Given the description of an element on the screen output the (x, y) to click on. 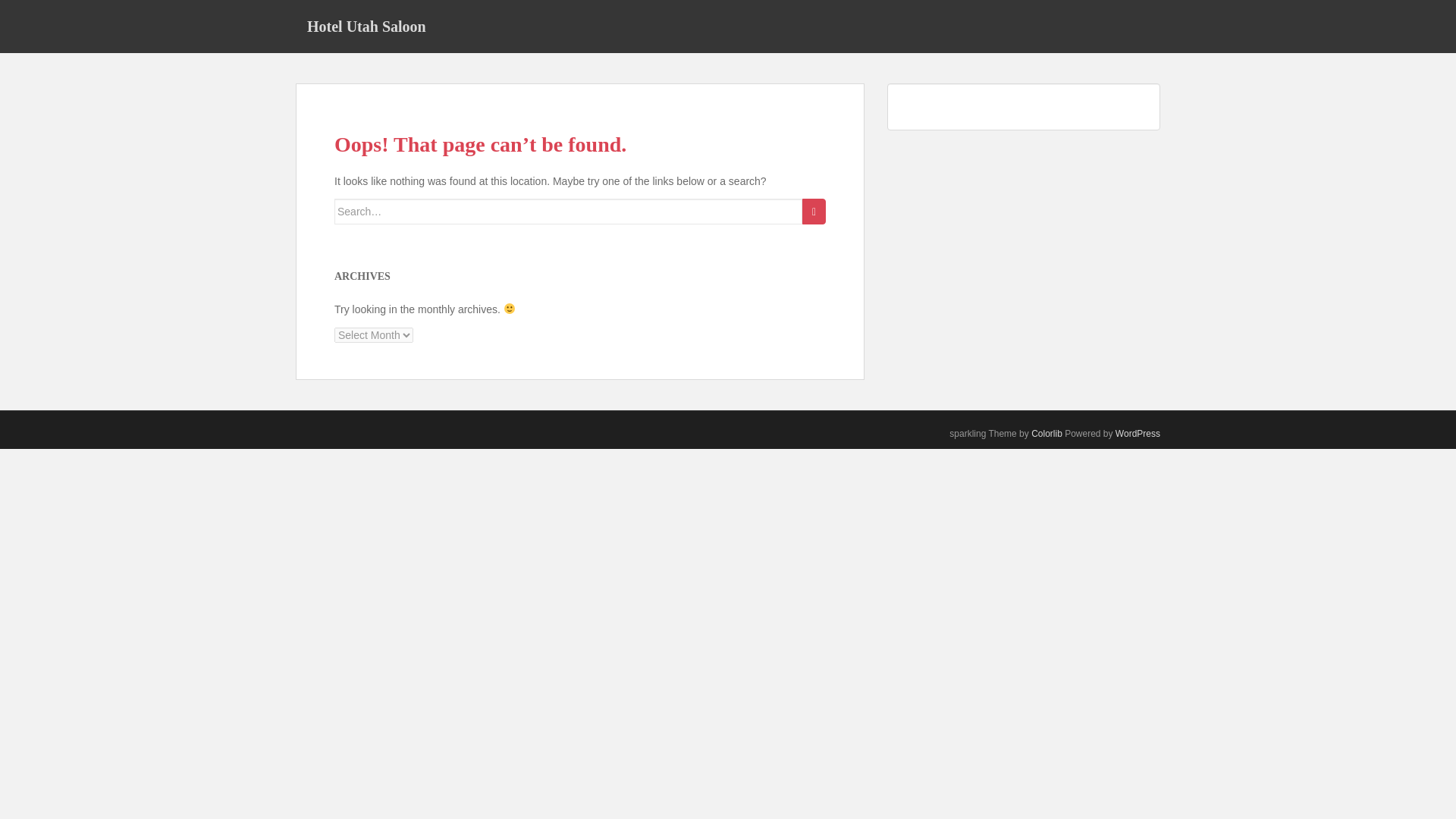
Search for: (568, 211)
Hotel Utah Saloon (366, 26)
Colorlib (1046, 433)
WordPress (1137, 433)
Hotel Utah Saloon (366, 26)
Search (813, 211)
